Given the description of an element on the screen output the (x, y) to click on. 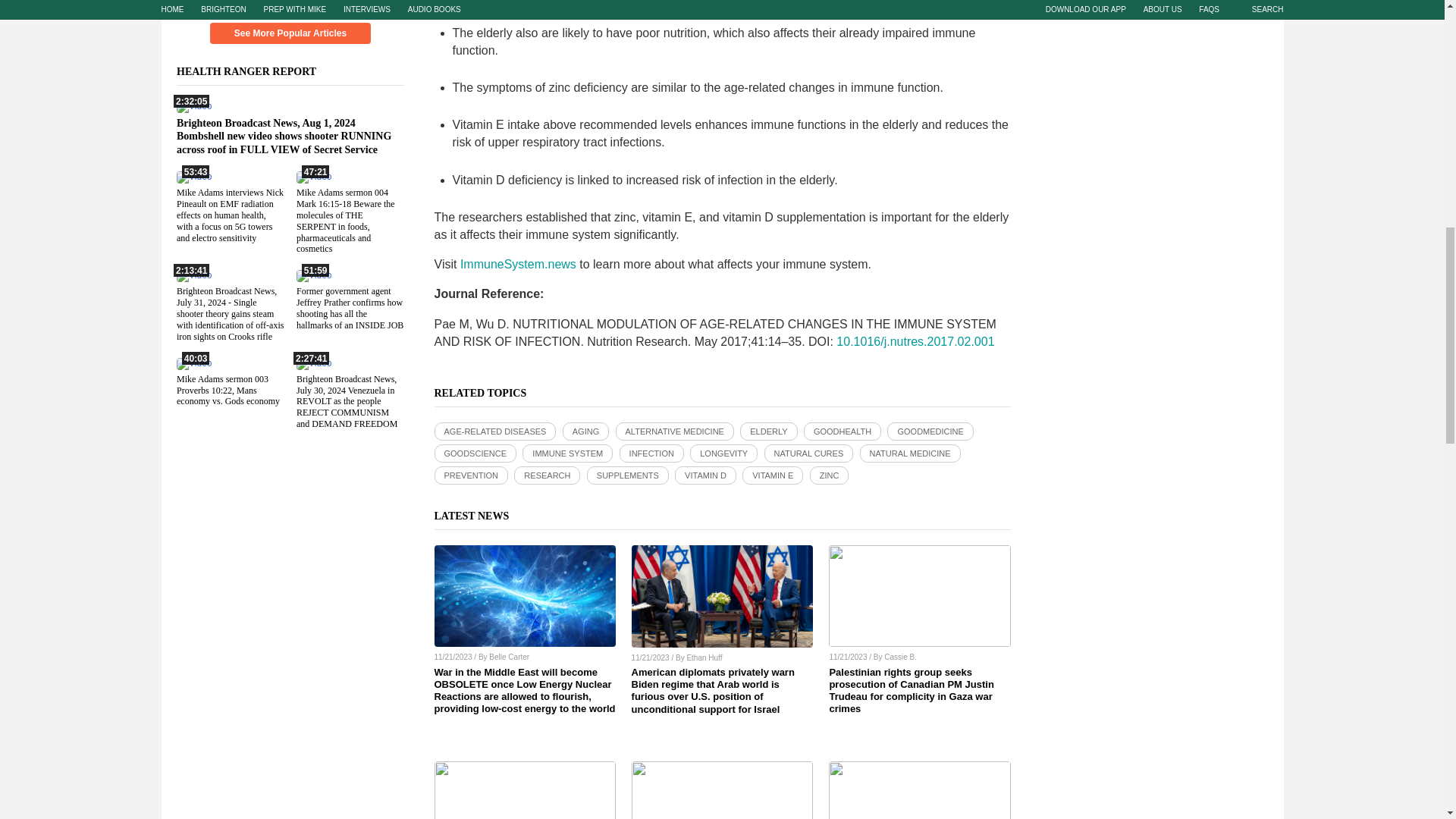
51:59 (312, 275)
HEALTH RANGER REPORT (254, 71)
2:32:05 (193, 105)
See More Popular Articles (289, 33)
47:21 (312, 176)
53:43 (193, 176)
